Given the description of an element on the screen output the (x, y) to click on. 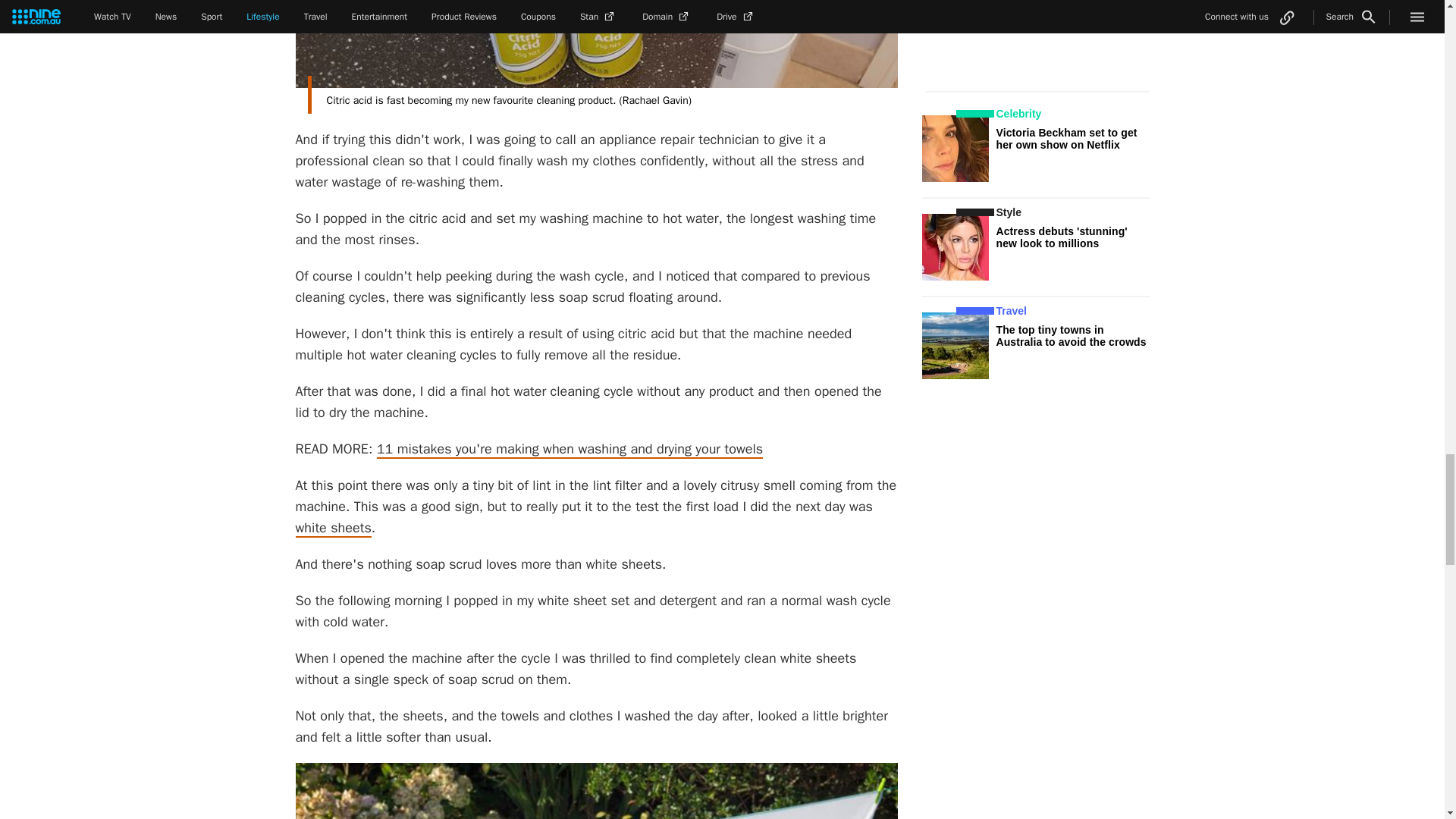
white sheets (333, 528)
white sheets (333, 528)
